Given the description of an element on the screen output the (x, y) to click on. 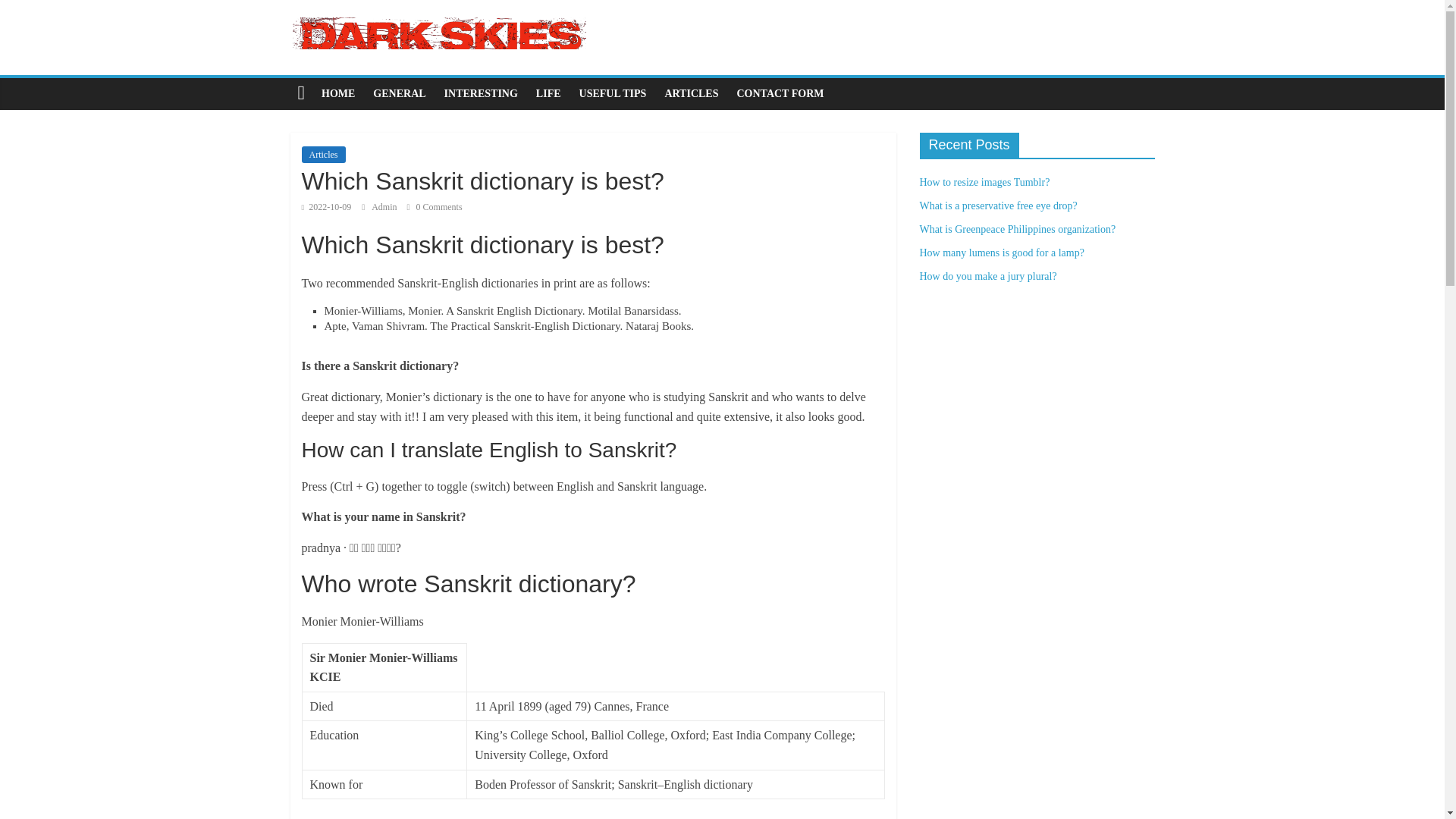
HOME (338, 92)
2022-10-09 (326, 206)
What is Greenpeace Philippines organization? (1016, 229)
How many lumens is good for a lamp? (1000, 252)
What is a preservative free eye drop? (997, 205)
Admin (384, 206)
0 Comments (435, 206)
LIFE (548, 92)
USEFUL TIPS (613, 92)
CONTACT FORM (779, 92)
